Given the description of an element on the screen output the (x, y) to click on. 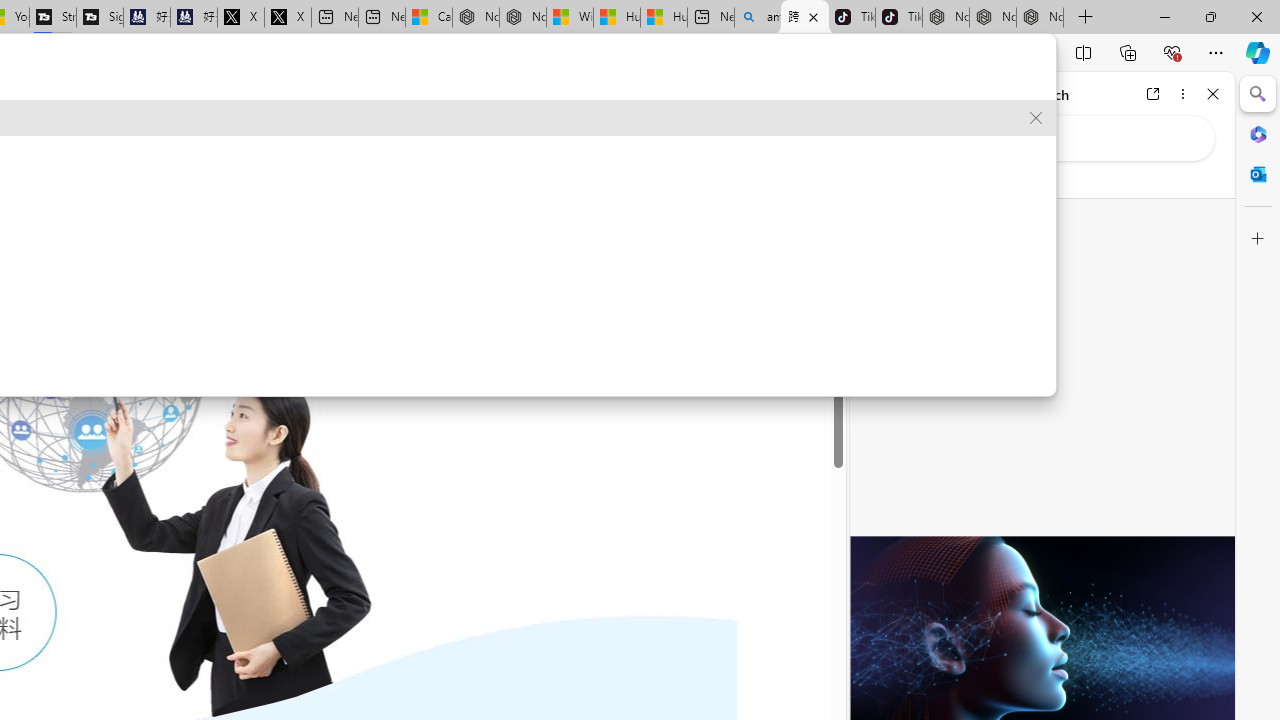
Remove suggestion (1036, 117)
Open link in new tab (1153, 93)
